Given the description of an element on the screen output the (x, y) to click on. 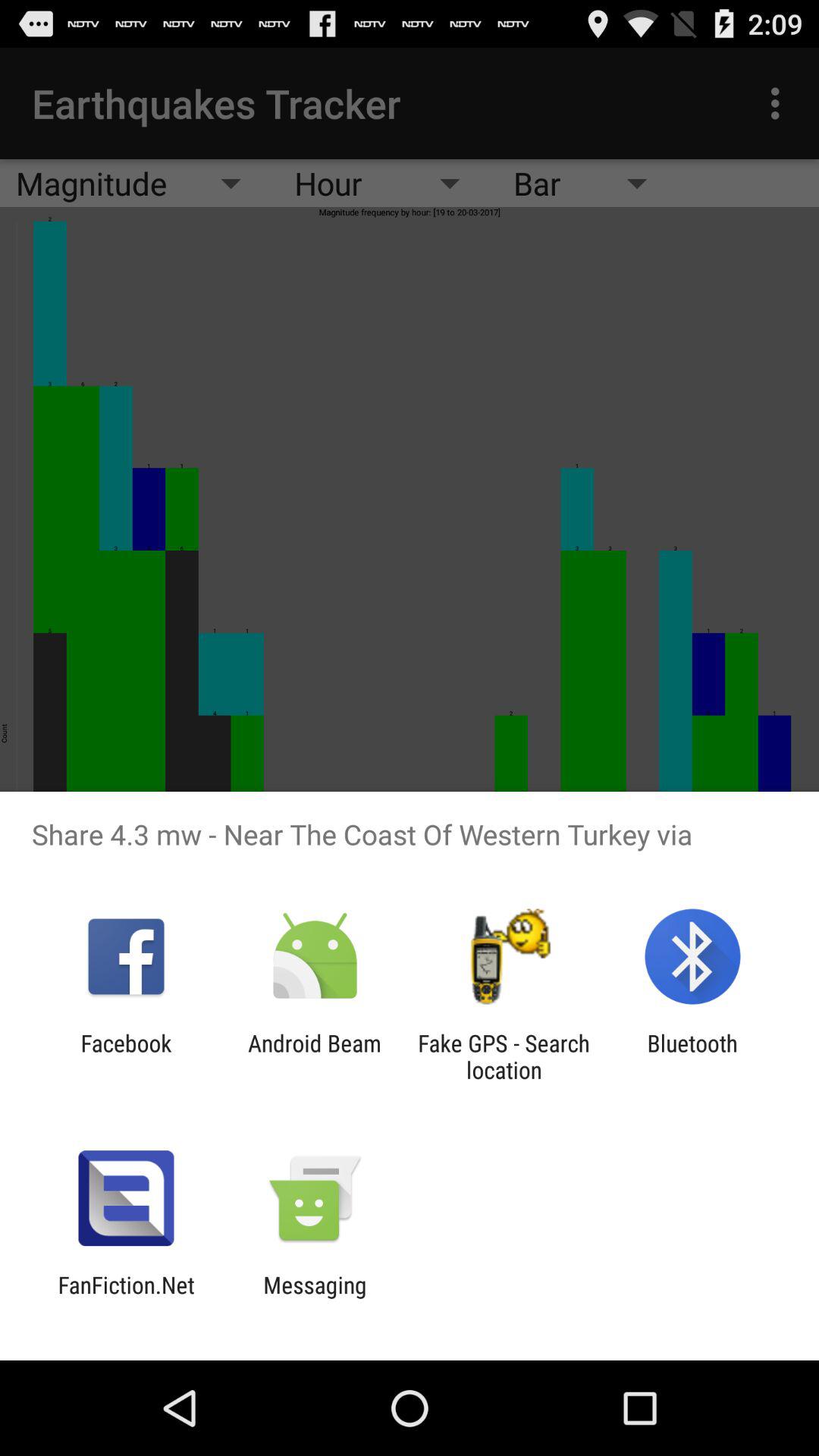
choose the fanfiction.net (126, 1298)
